Given the description of an element on the screen output the (x, y) to click on. 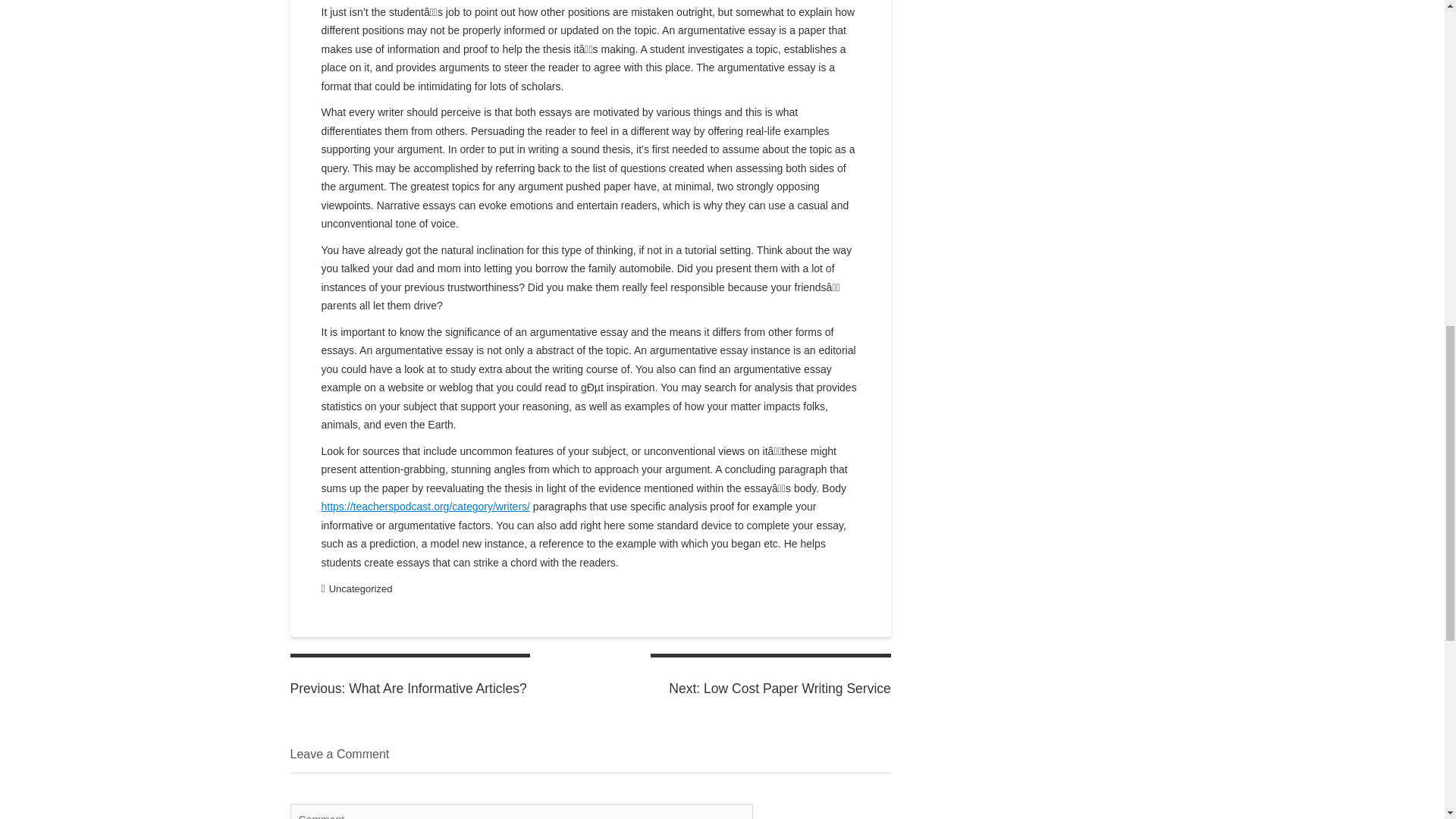
Uncategorized (361, 588)
